Given the description of an element on the screen output the (x, y) to click on. 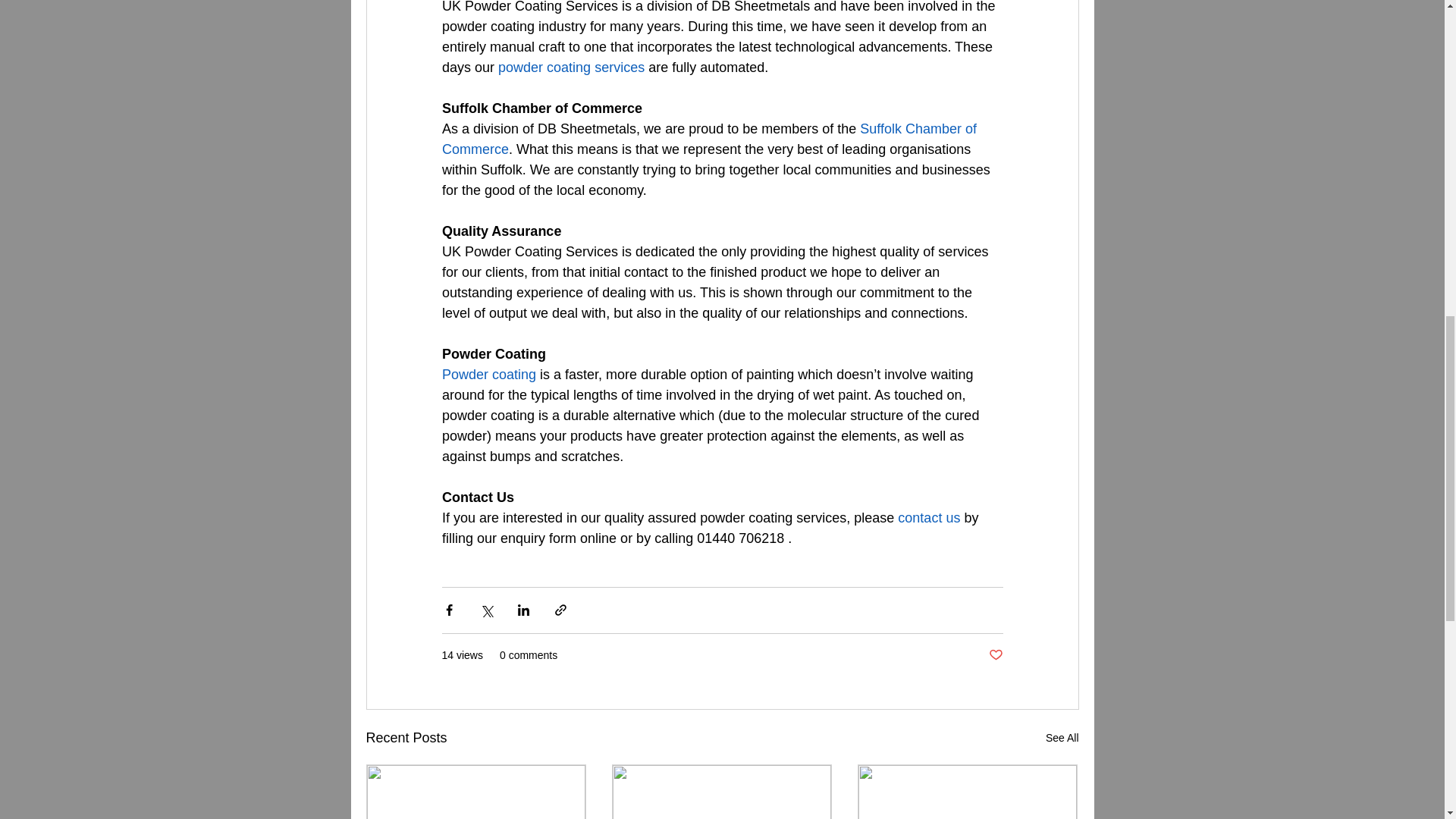
See All (1061, 738)
Post not marked as liked (995, 655)
contact us (928, 517)
Suffolk Chamber of Commerce (710, 139)
Powder coating (488, 374)
powder coating services (571, 67)
